Given the description of an element on the screen output the (x, y) to click on. 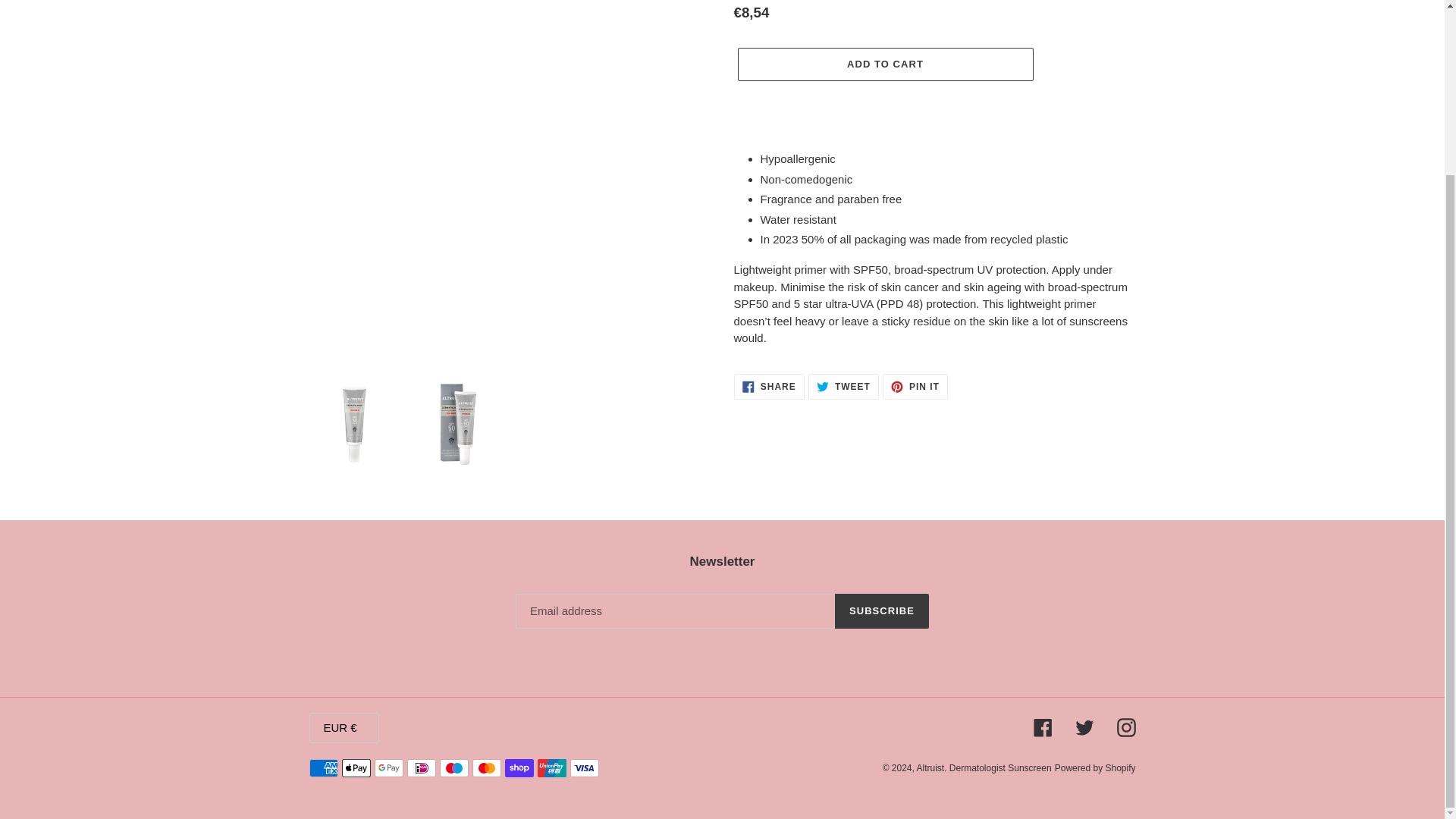
Altruist. Dermatologist Sunscreen (984, 767)
Instagram (1125, 727)
Twitter (914, 386)
ADD TO CART (1084, 727)
SUBSCRIBE (884, 64)
Facebook (843, 386)
Powered by Shopify (881, 610)
